Given the description of an element on the screen output the (x, y) to click on. 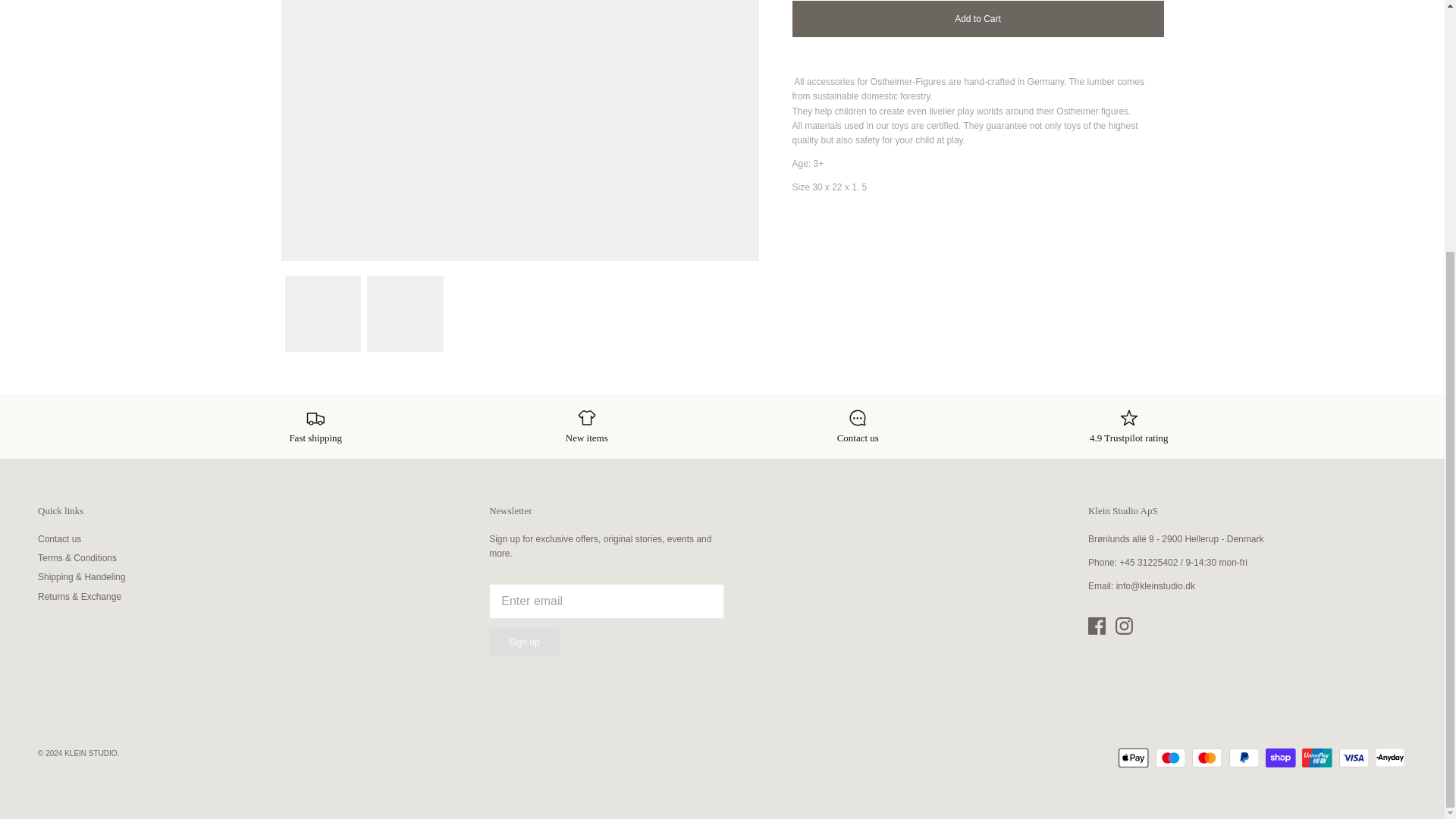
Apple Pay (1133, 757)
Mastercard (1206, 757)
PayPal (1243, 757)
Maestro (1170, 757)
Shop Pay (1280, 757)
Facebook (1096, 625)
Instagram (1123, 625)
